Given the description of an element on the screen output the (x, y) to click on. 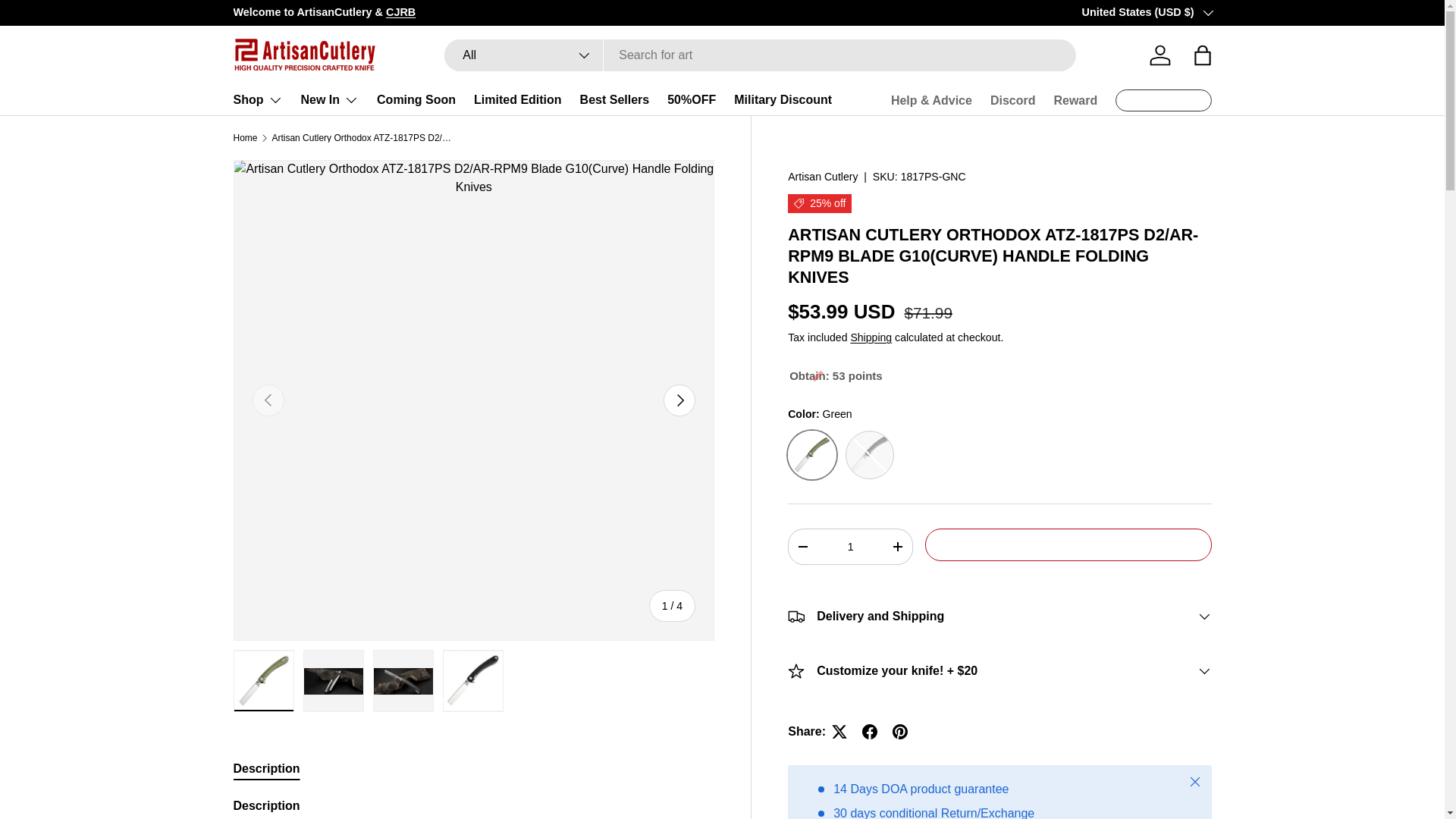
Share on Facebook (869, 731)
Bag (1203, 55)
New In (328, 100)
Pin on Pinterest (900, 731)
Tweet on X (839, 731)
Sold out (869, 454)
Log in (1159, 55)
CJRB (399, 11)
